Given the description of an element on the screen output the (x, y) to click on. 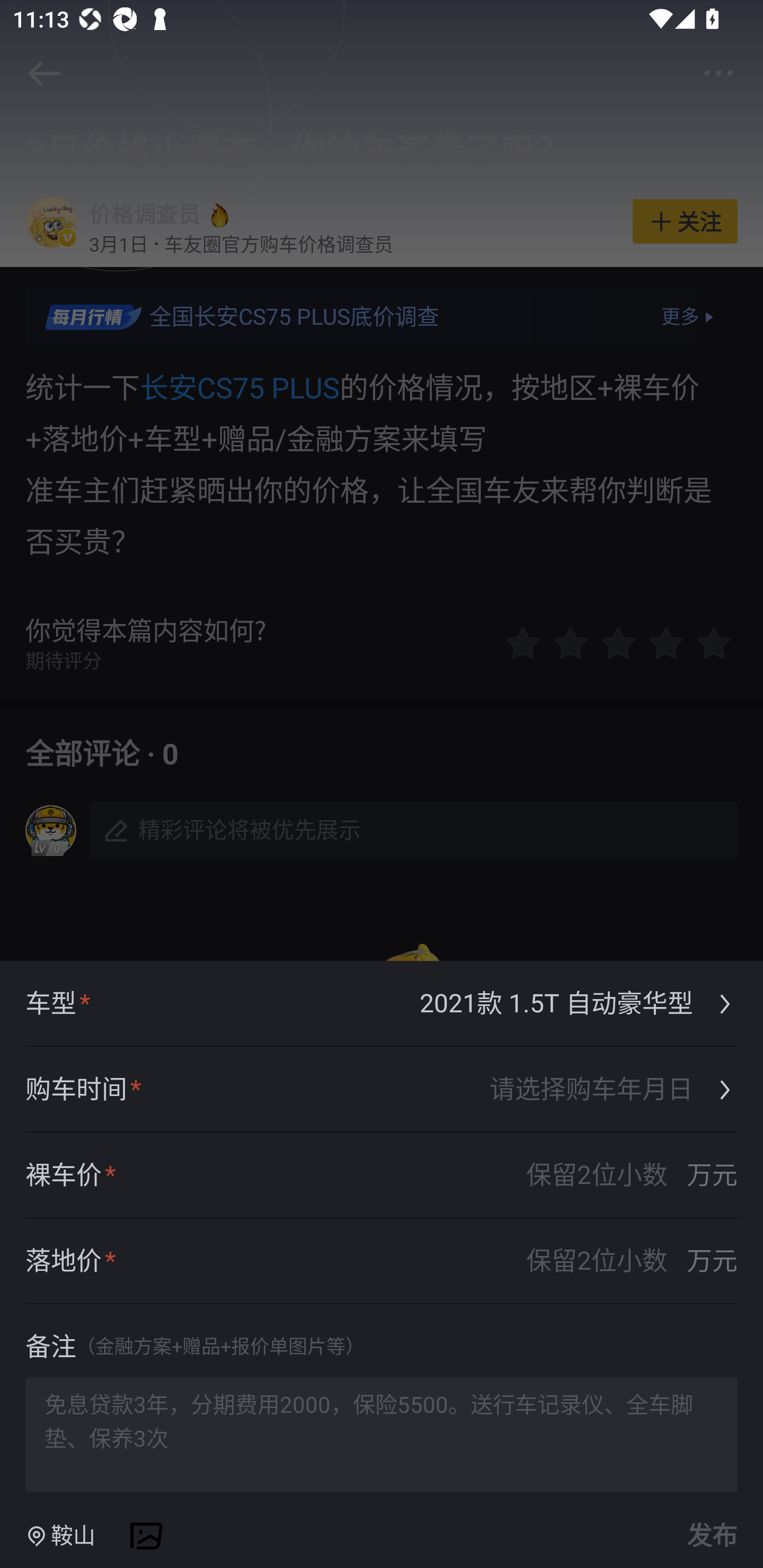
车型 * 2021款 1.5T 自动豪华型 (381, 1004)
购车时间 * 请选择购车年月日 (381, 1089)
免息贷款3年，分期费用2000，保险5500。送行车记录仪、全车脚垫、保养3次 (381, 1433)
发布 (708, 1535)
鞍山 (60, 1536)
